Given the description of an element on the screen output the (x, y) to click on. 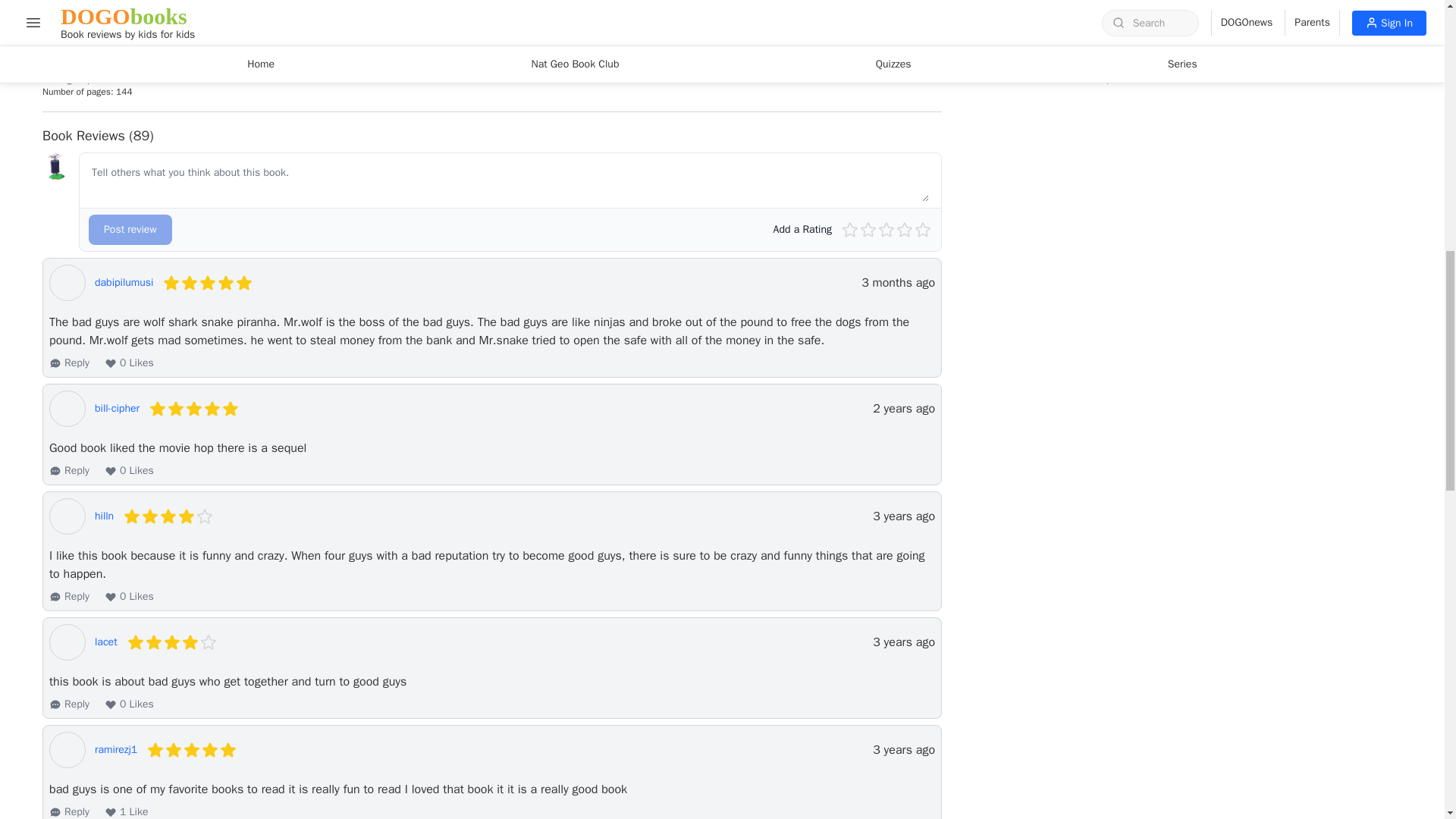
Reply (68, 470)
Reply (68, 703)
Post review (129, 229)
0 Likes (129, 470)
dabipilumusi (123, 282)
September 14, 2021 (903, 515)
January 26, 2023 (903, 408)
0 Likes (129, 363)
ramirezj1 (115, 749)
1 Like (126, 811)
